Given the description of an element on the screen output the (x, y) to click on. 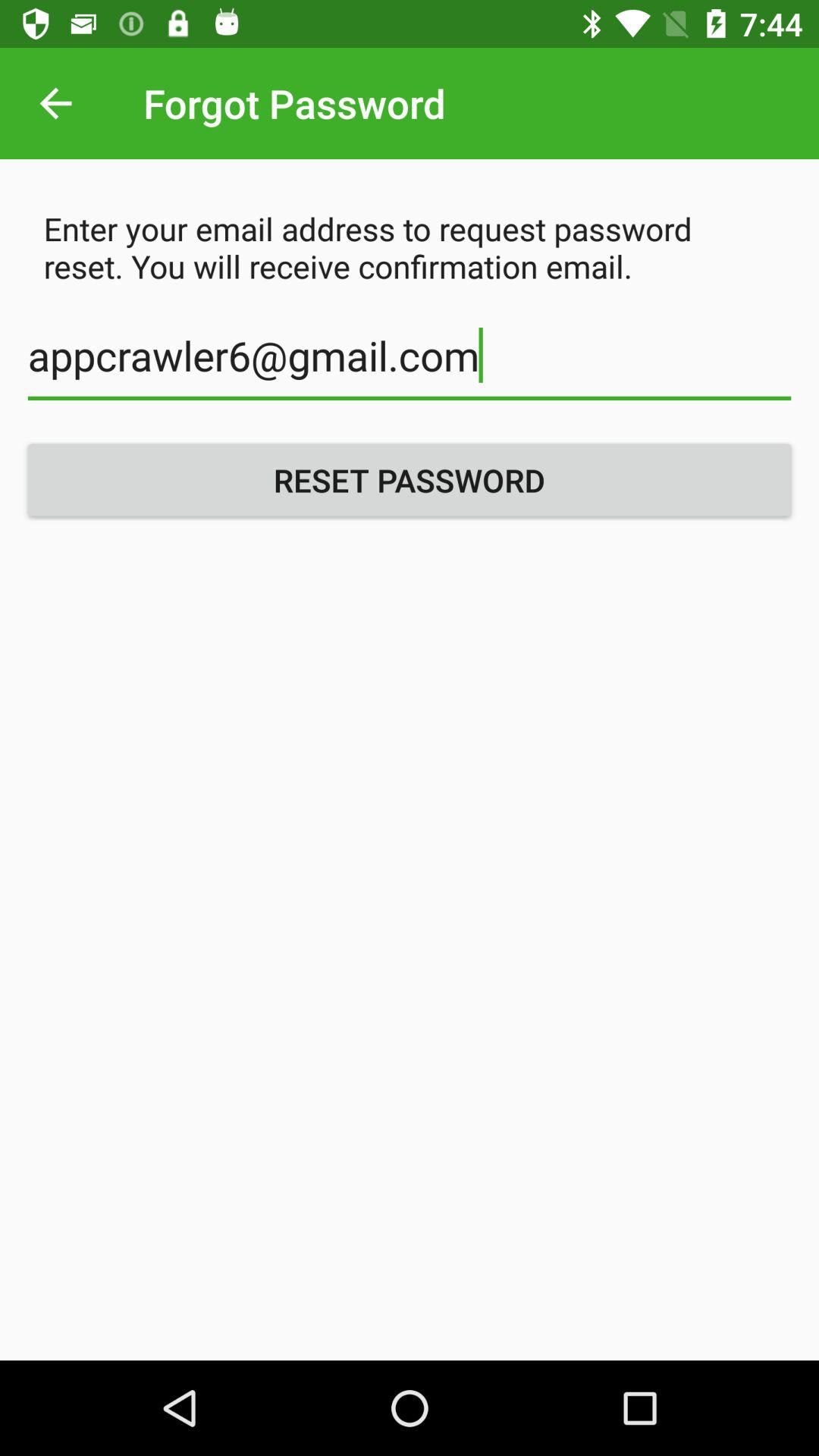
go back (55, 103)
